Given the description of an element on the screen output the (x, y) to click on. 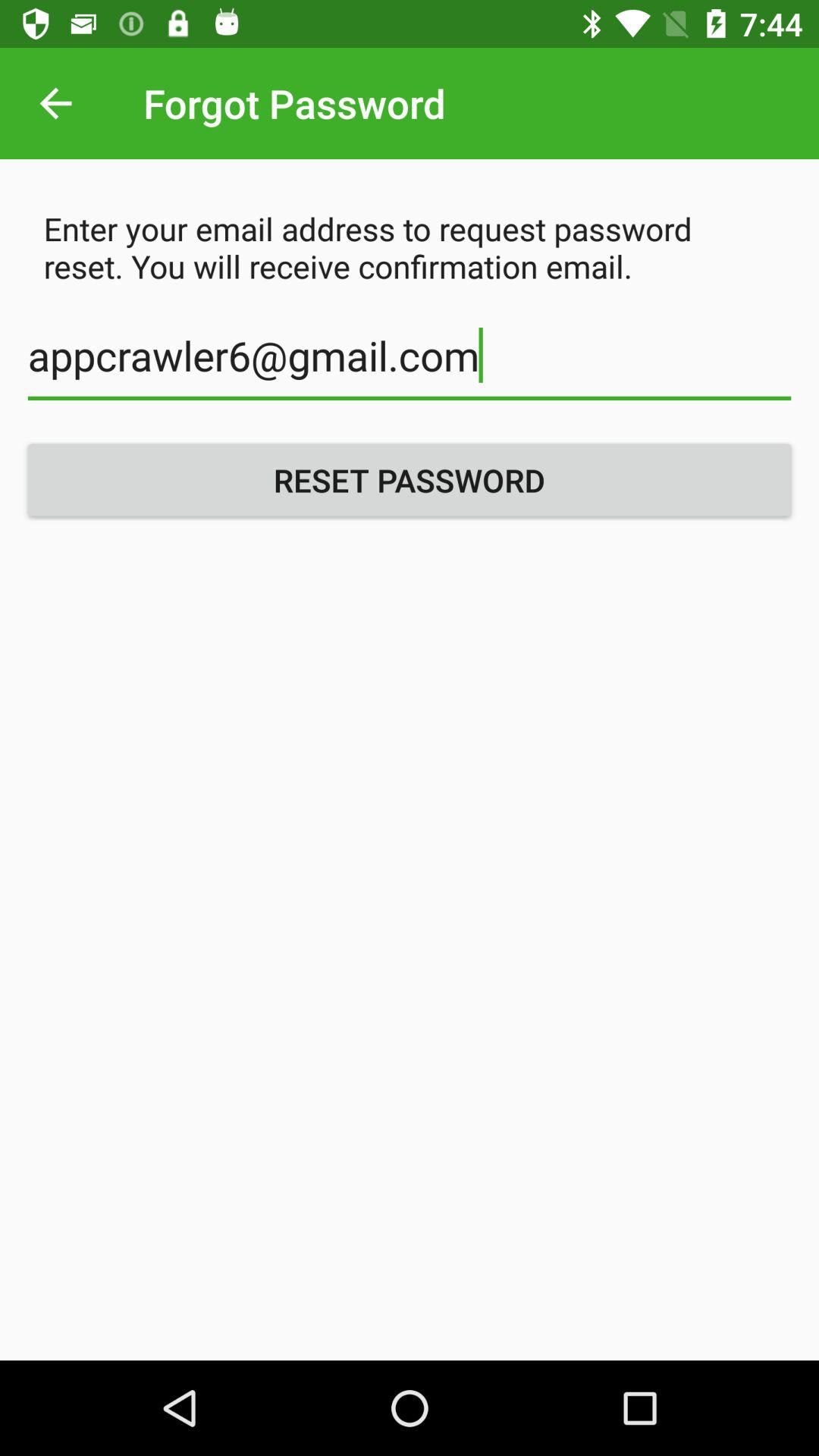
go back (55, 103)
